Given the description of an element on the screen output the (x, y) to click on. 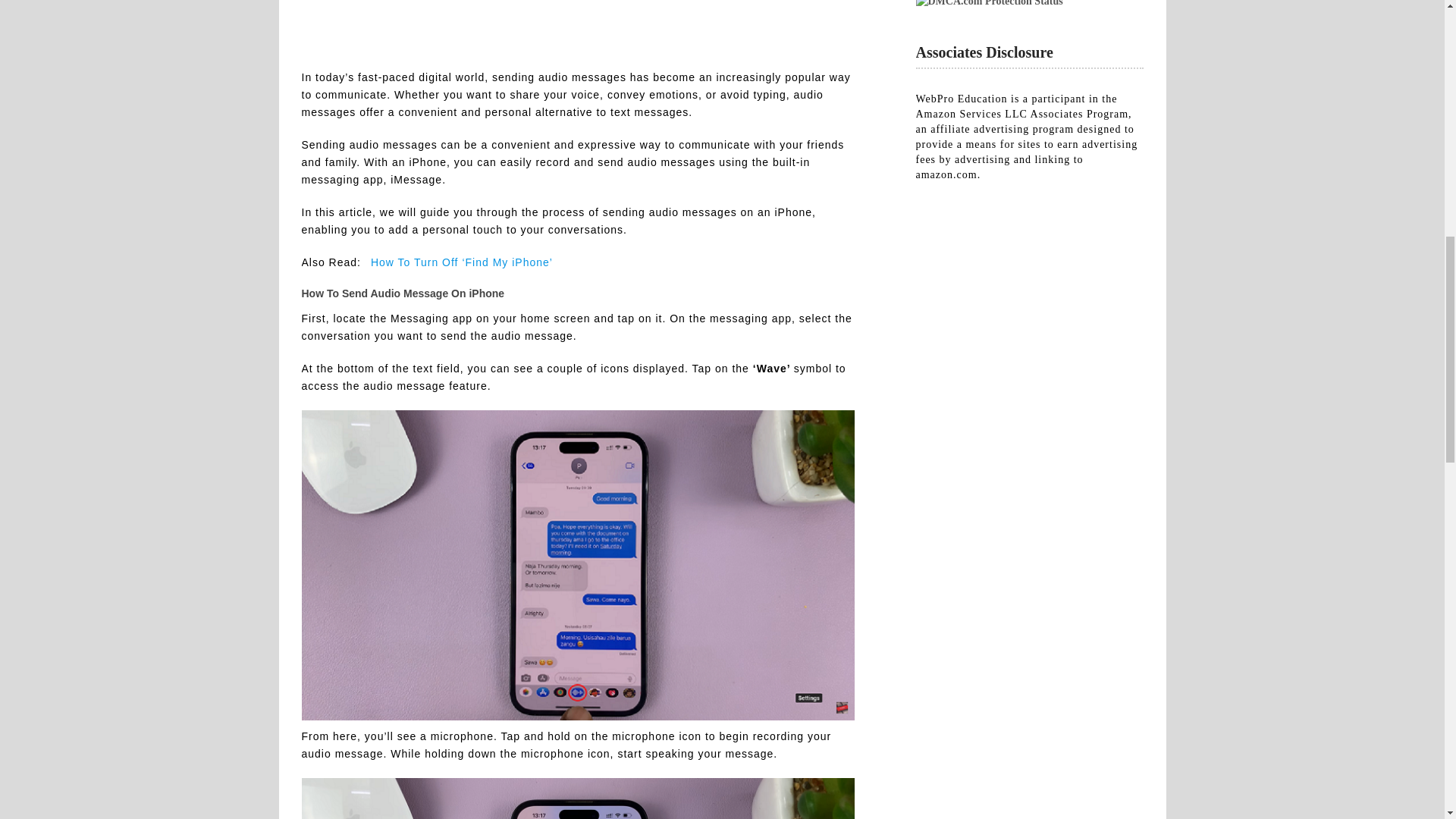
How To Send Audio Message On iPhone (578, 22)
DMCA.com Protection Status (988, 3)
